Given the description of an element on the screen output the (x, y) to click on. 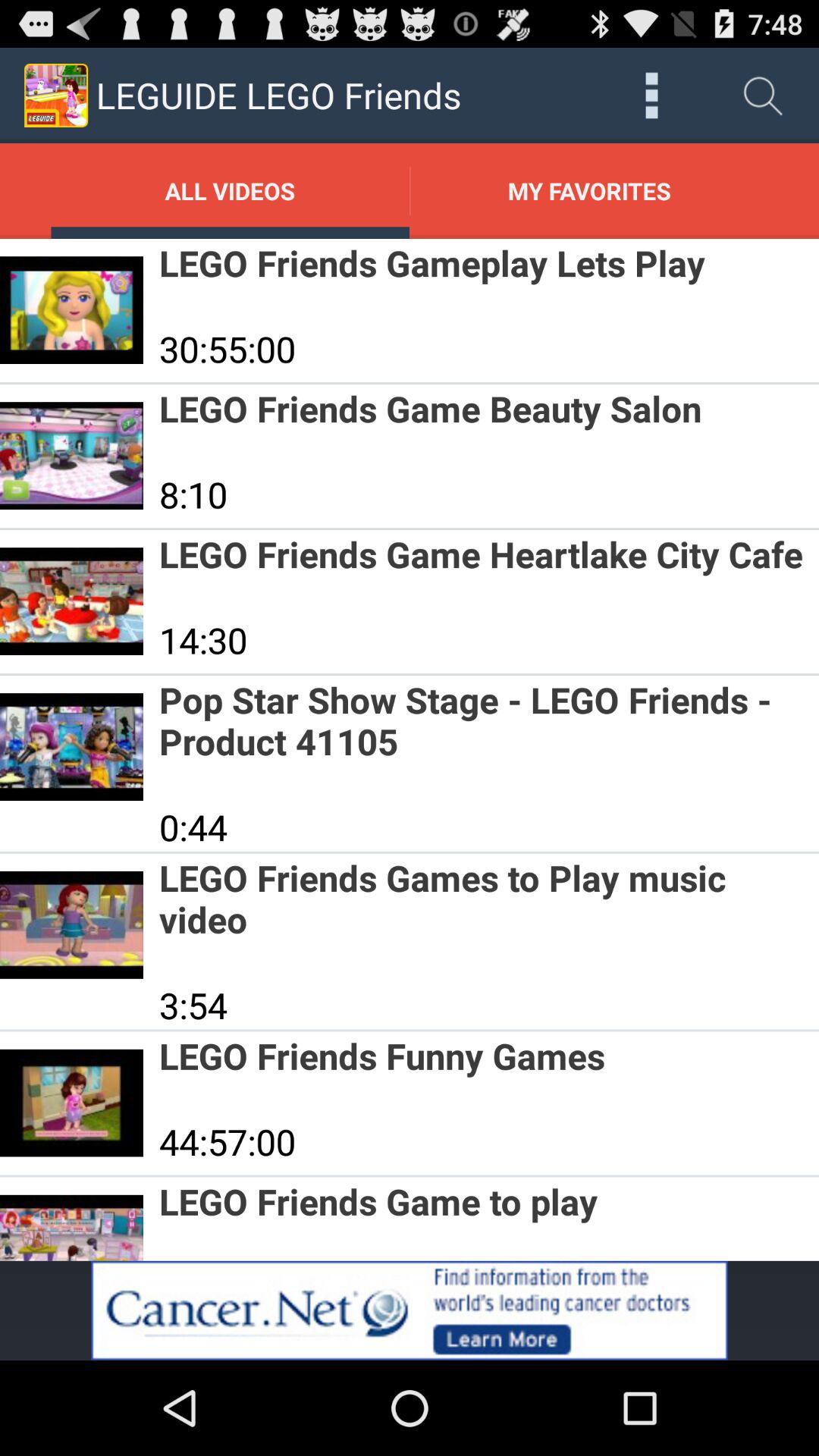
open settings tool (651, 95)
